Given the description of an element on the screen output the (x, y) to click on. 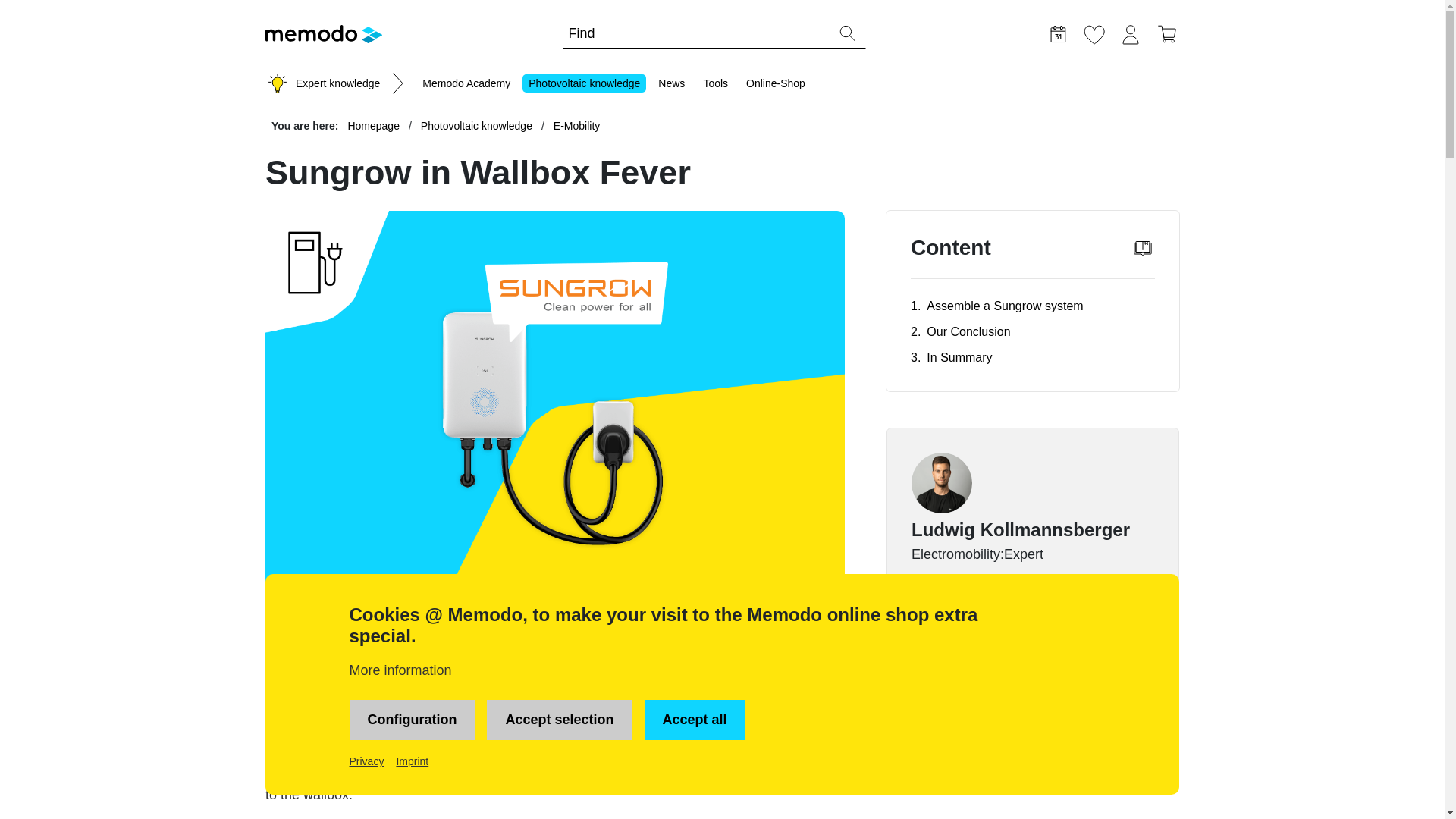
My account (1130, 32)
Expert knowledge (337, 83)
Photovoltaic knowledge (584, 82)
News (671, 82)
Favourites (1093, 32)
Photovoltaic knowledge (584, 83)
Events (1057, 32)
Photovoltaic knowledge (476, 126)
Memodo (322, 34)
Memodo Academy (466, 82)
Homepage (374, 126)
Tools (715, 82)
Memodo Academy (466, 82)
Submit search (847, 33)
Shopping cart (1166, 32)
